Given the description of an element on the screen output the (x, y) to click on. 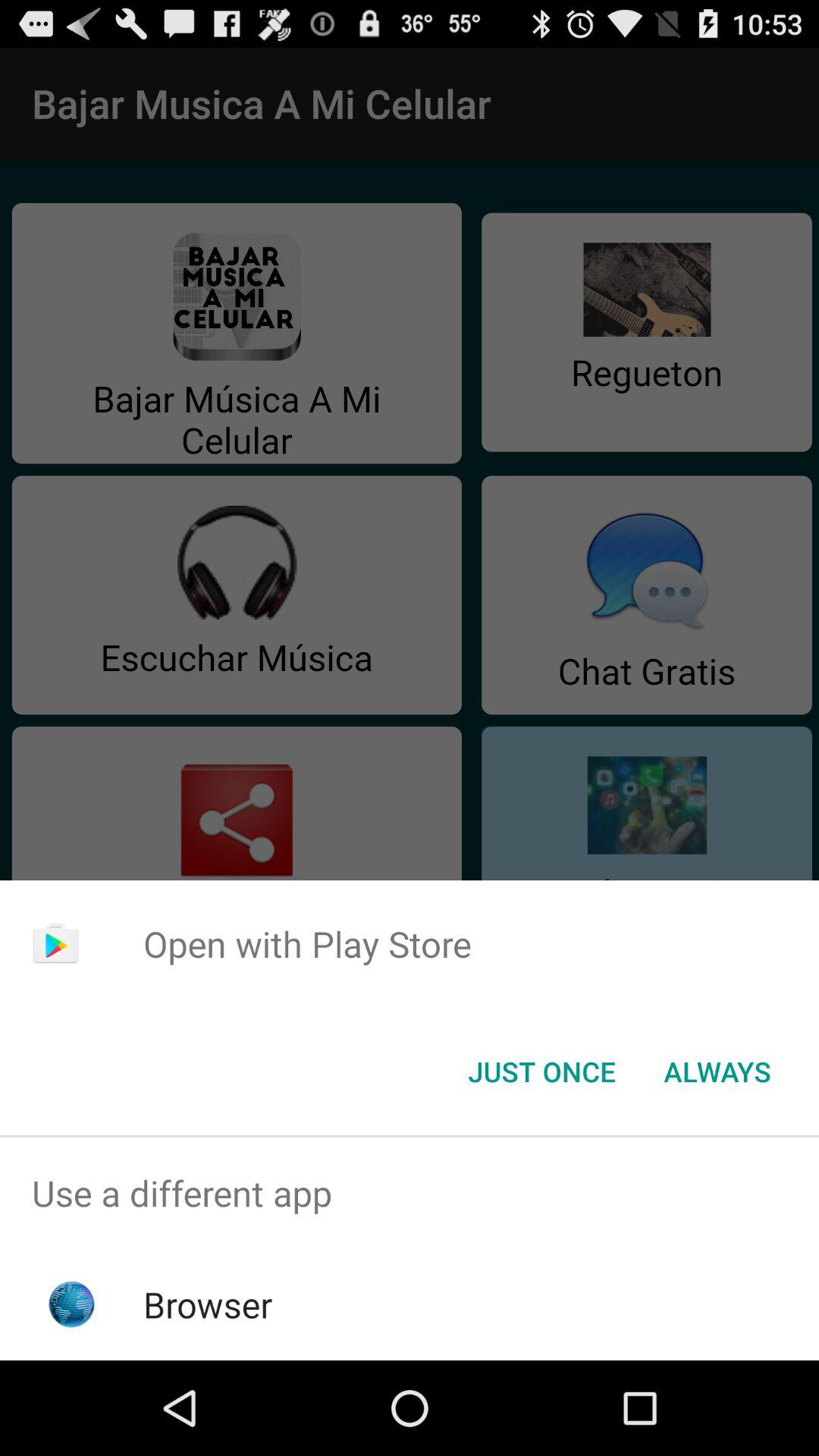
scroll until use a different app (409, 1192)
